Given the description of an element on the screen output the (x, y) to click on. 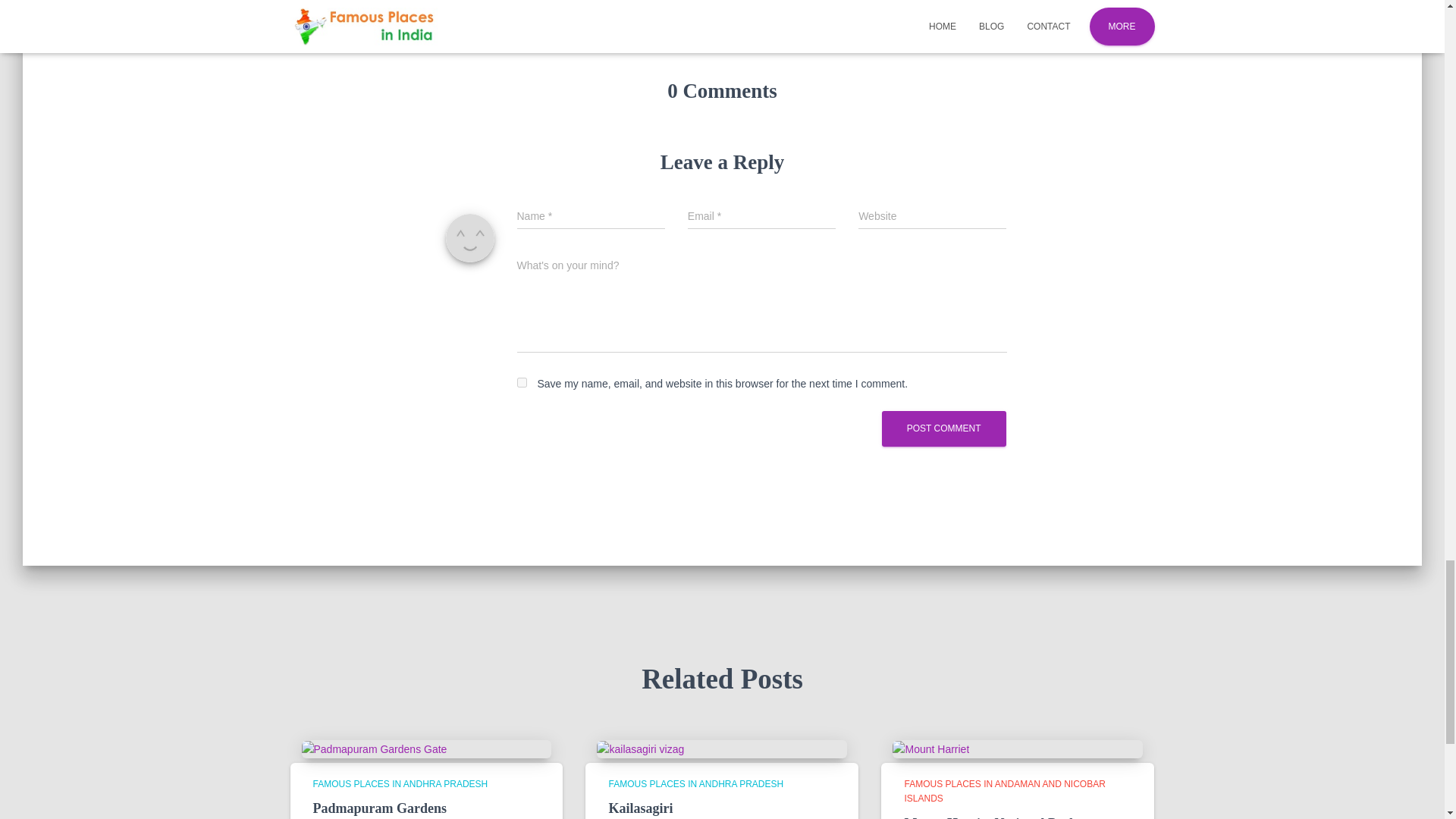
yes (521, 382)
Mount Harriet National Park (989, 817)
Padmapuram Gardens (373, 748)
FAMOUS PLACES IN ANDAMAN AND NICOBAR ISLANDS (1004, 790)
Kailasagiri (640, 807)
Post Comment (944, 428)
Kailasagiri (640, 807)
Padmapuram Gardens (379, 807)
Post Comment (944, 428)
Mount Harriet National Park (930, 748)
Kailasagiri (640, 748)
FAMOUS PLACES IN ANDHRA PRADESH (400, 783)
Padmapuram Gardens (379, 807)
View all posts in Famous Places in Andhra Pradesh (400, 783)
